Given the description of an element on the screen output the (x, y) to click on. 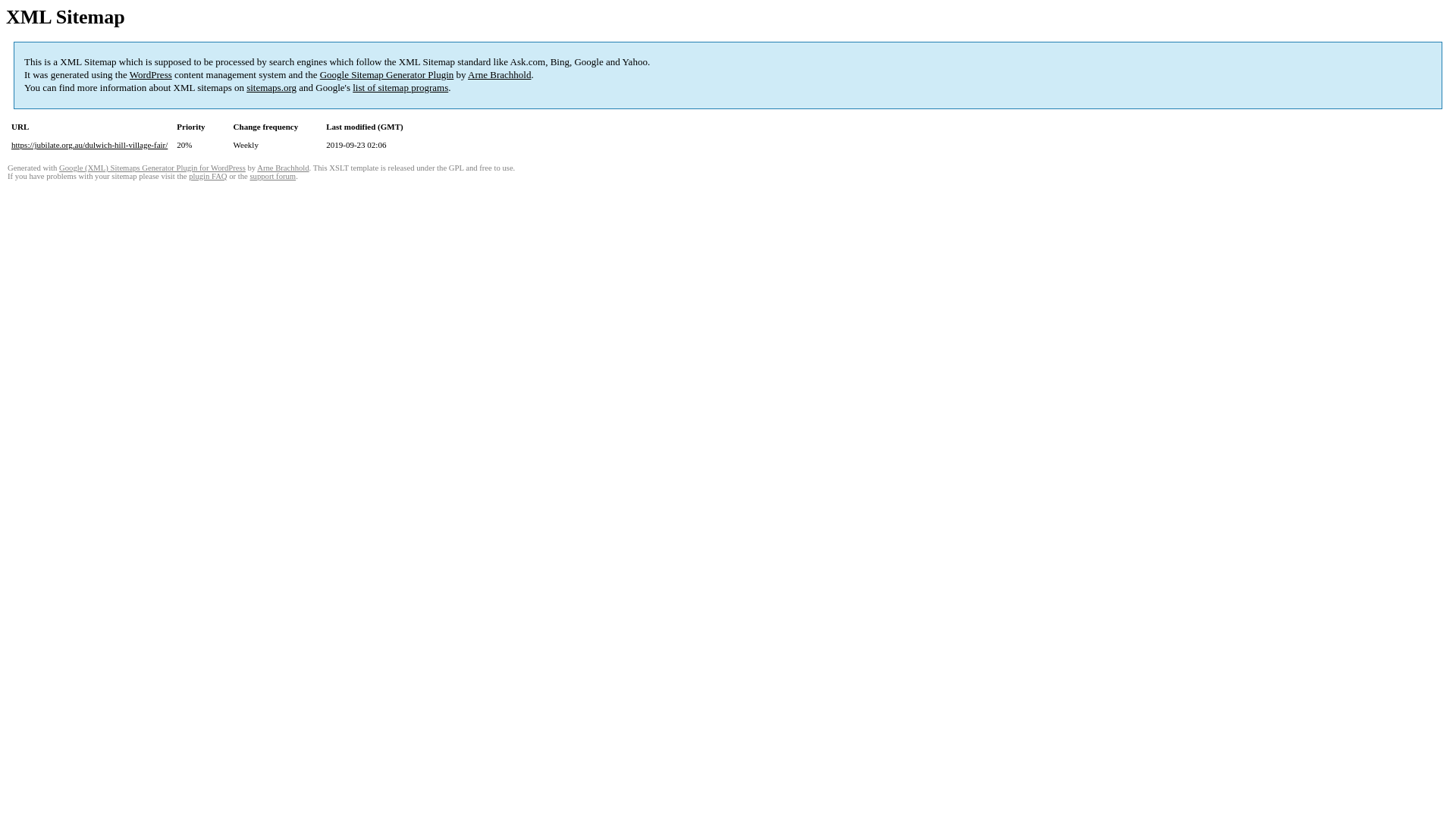
Arne Brachhold Element type: text (282, 167)
sitemaps.org Element type: text (271, 87)
Google Sitemap Generator Plugin Element type: text (387, 74)
WordPress Element type: text (150, 74)
Google (XML) Sitemaps Generator Plugin for WordPress Element type: text (152, 167)
plugin FAQ Element type: text (207, 176)
Arne Brachhold Element type: text (498, 74)
list of sitemap programs Element type: text (400, 87)
support forum Element type: text (272, 176)
https://jubilate.org.au/dulwich-hill-village-fair/ Element type: text (89, 144)
